Given the description of an element on the screen output the (x, y) to click on. 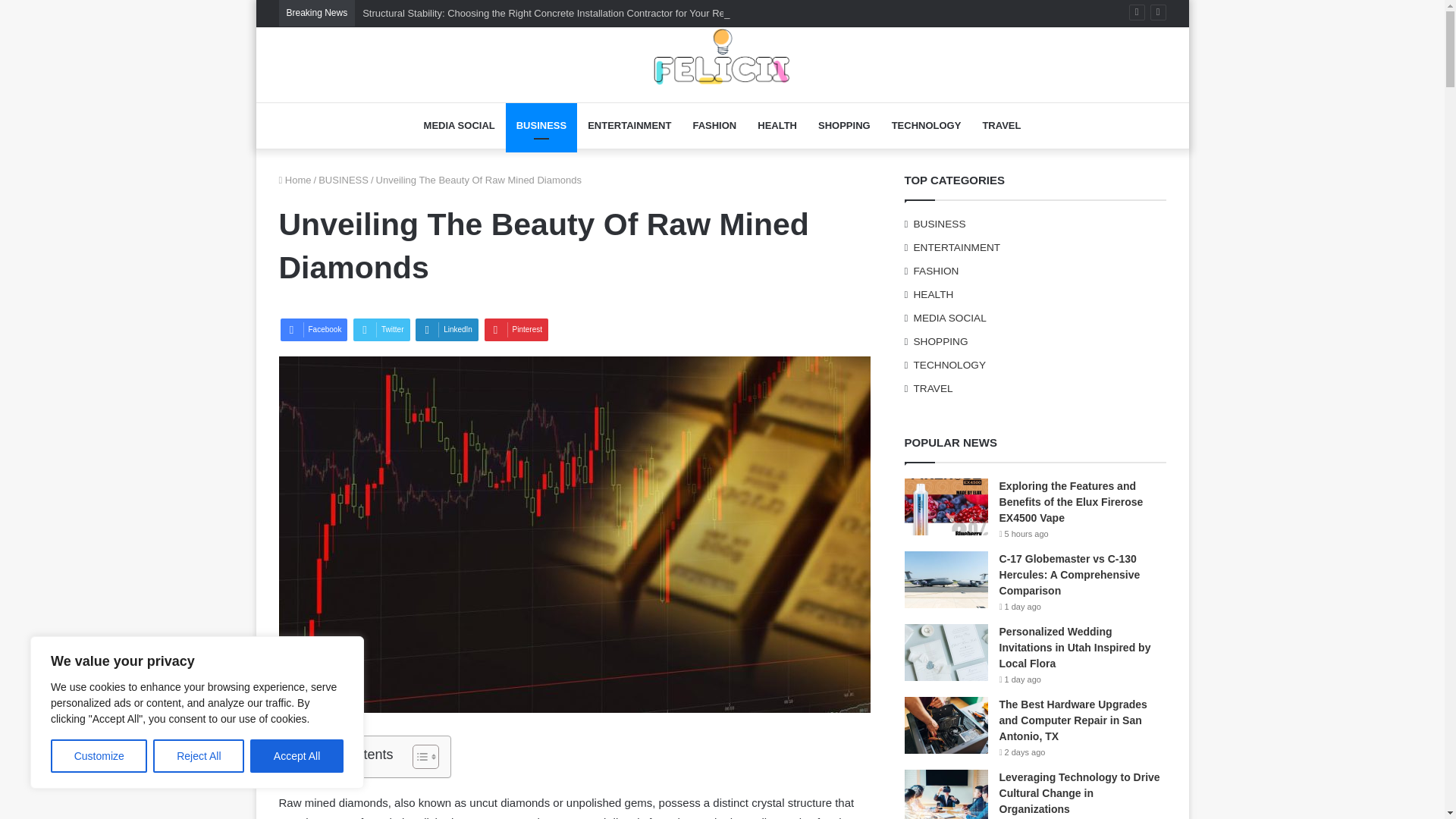
BUSINESS (343, 179)
LinkedIn (446, 329)
TECHNOLOGY (926, 125)
Facebook (314, 329)
TRAVEL (1000, 125)
Twitter (381, 329)
Home (295, 179)
HEALTH (777, 125)
Twitter (381, 329)
MEDIA SOCIAL (459, 125)
Facebook (314, 329)
Pinterest (516, 329)
Accept All (296, 756)
Felicii (721, 56)
